Given the description of an element on the screen output the (x, y) to click on. 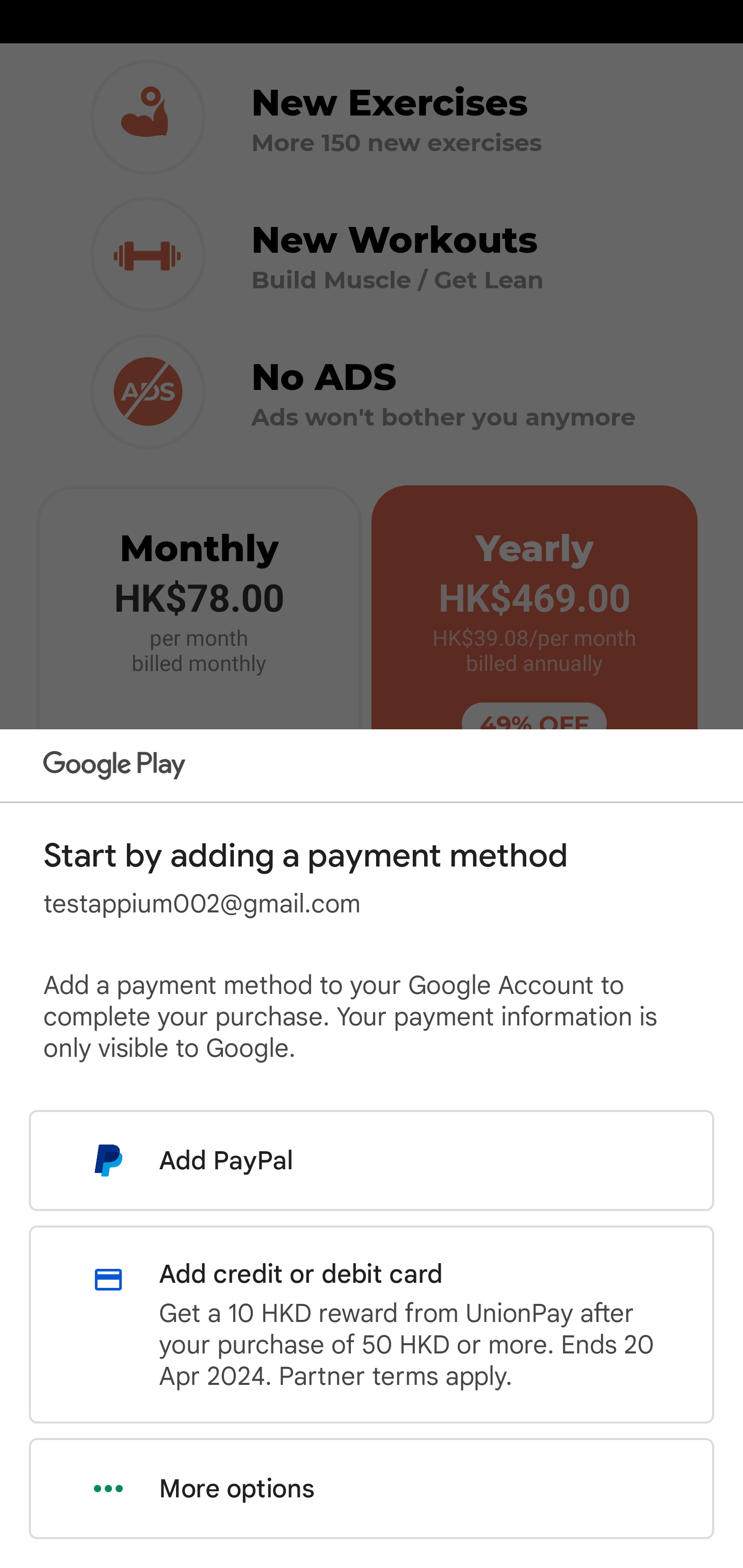
Add PayPal (371, 1160)
More options (371, 1488)
